Given the description of an element on the screen output the (x, y) to click on. 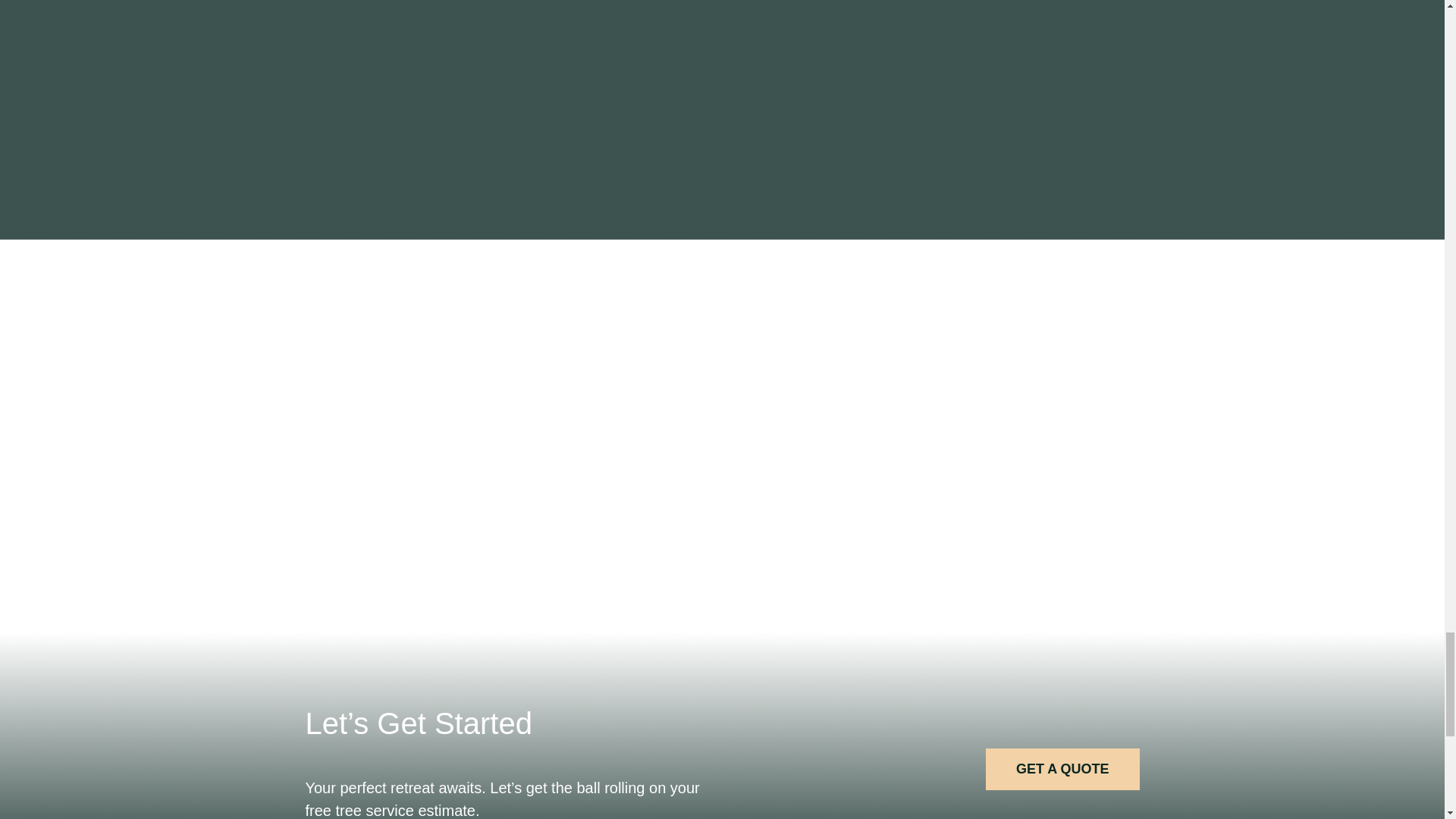
GET A QUOTE (1062, 769)
